Given the description of an element on the screen output the (x, y) to click on. 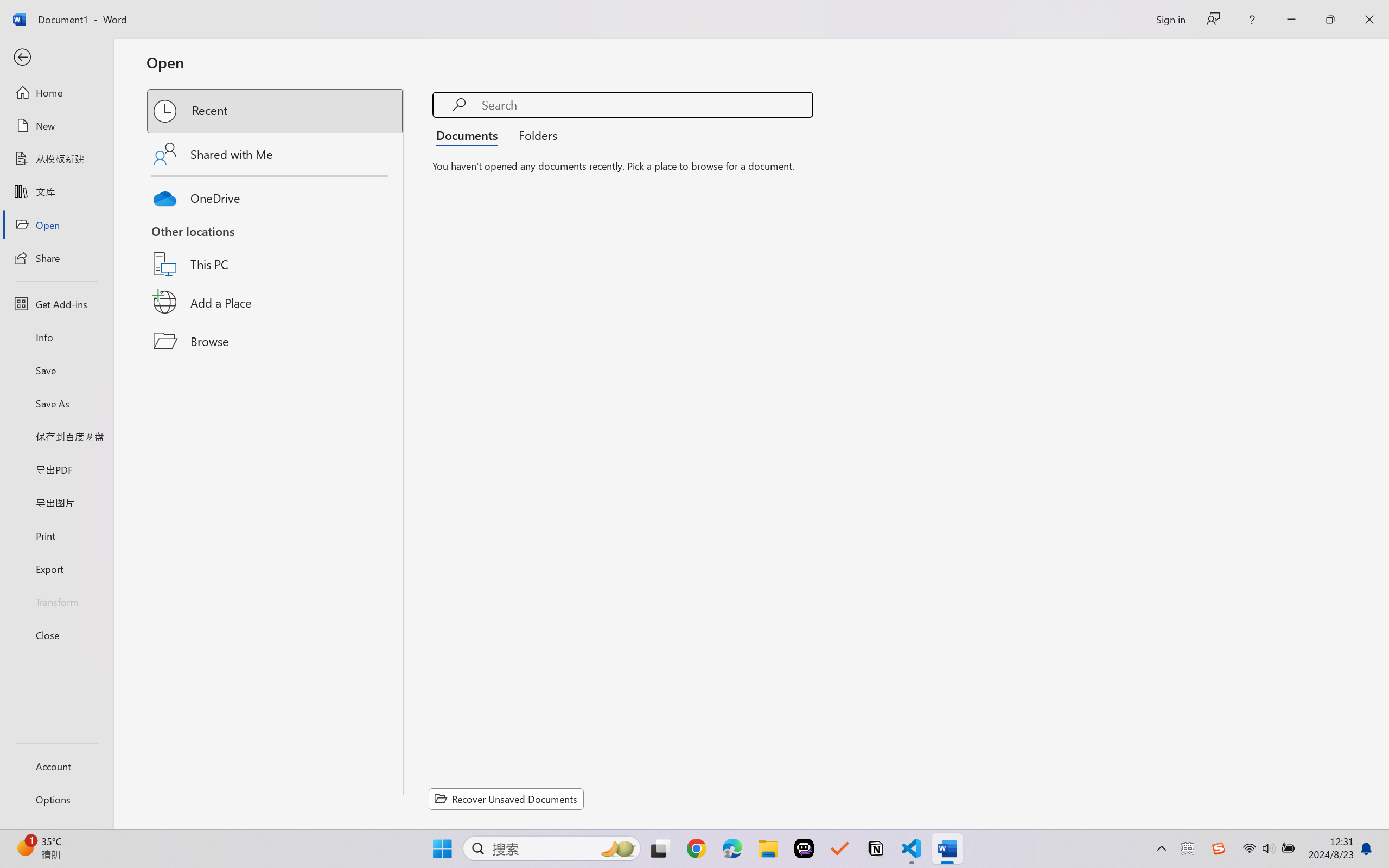
Info (56, 337)
OneDrive (275, 195)
Browse (275, 340)
Get Add-ins (56, 303)
This PC (275, 249)
New (56, 125)
Transform (56, 601)
